Given the description of an element on the screen output the (x, y) to click on. 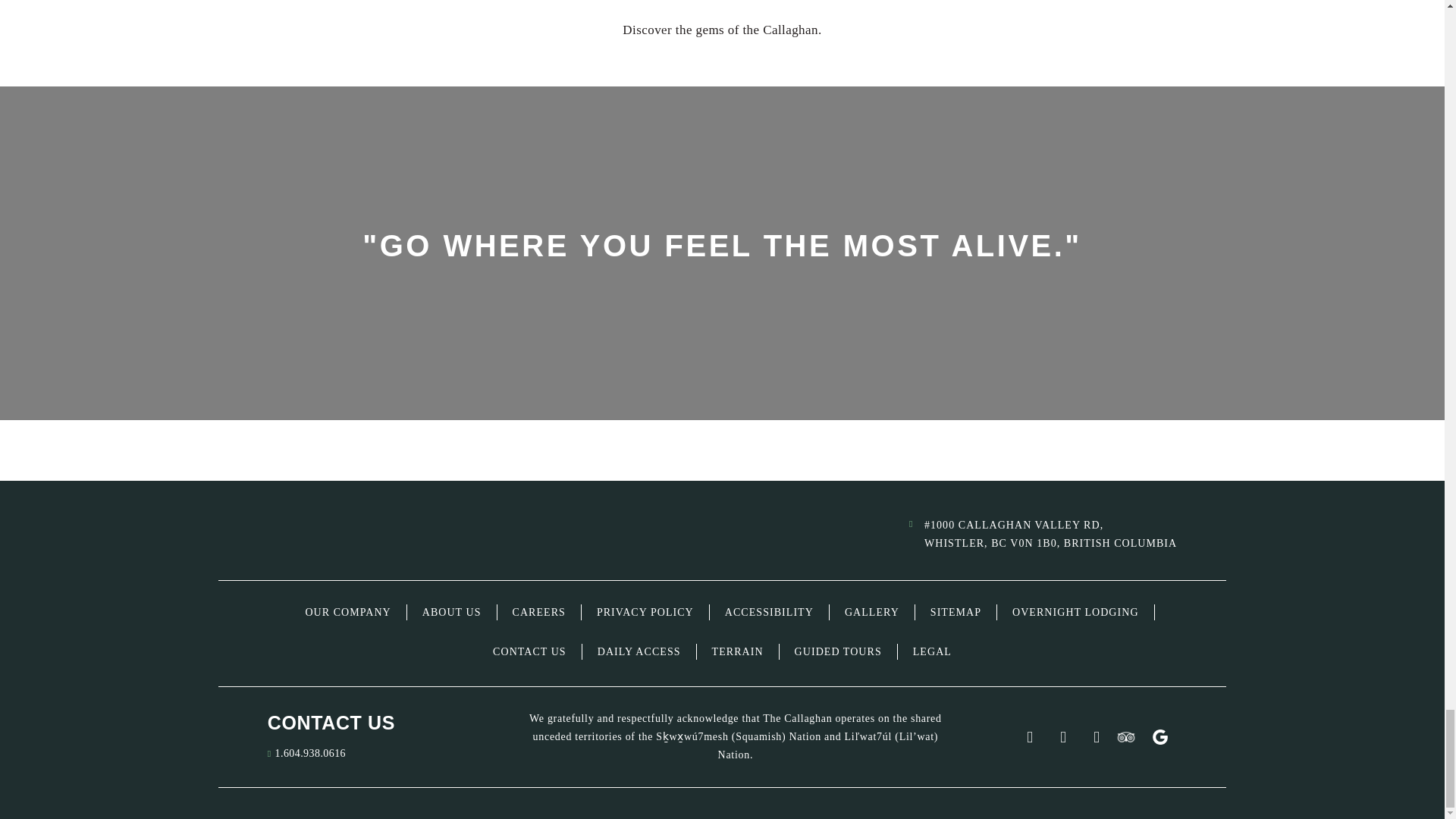
Dial With Skype (310, 753)
Callaghan Country Logo (376, 534)
